Given the description of an element on the screen output the (x, y) to click on. 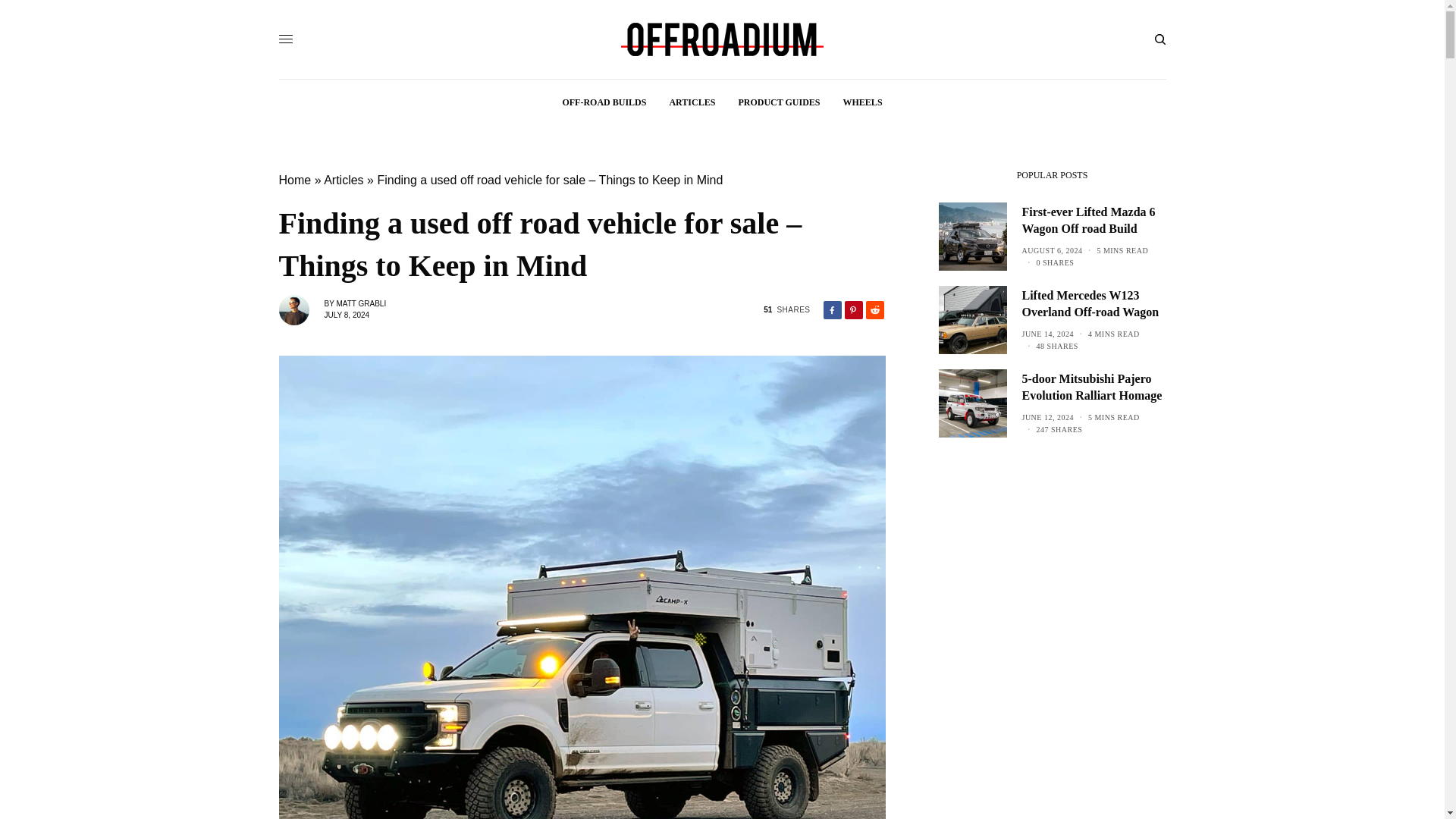
Articles (342, 179)
offroadium.com (722, 39)
Home (295, 179)
OFF-ROAD BUILDS (604, 102)
MATT GRABLI (360, 303)
First-ever Lifted Mazda 6 Wagon Off road Build (1094, 220)
First-ever Lifted Mazda 6 Wagon Off road Build (1094, 220)
PRODUCT GUIDES (778, 102)
Posts by Matt Grabli (360, 303)
ARTICLES (691, 102)
